Given the description of an element on the screen output the (x, y) to click on. 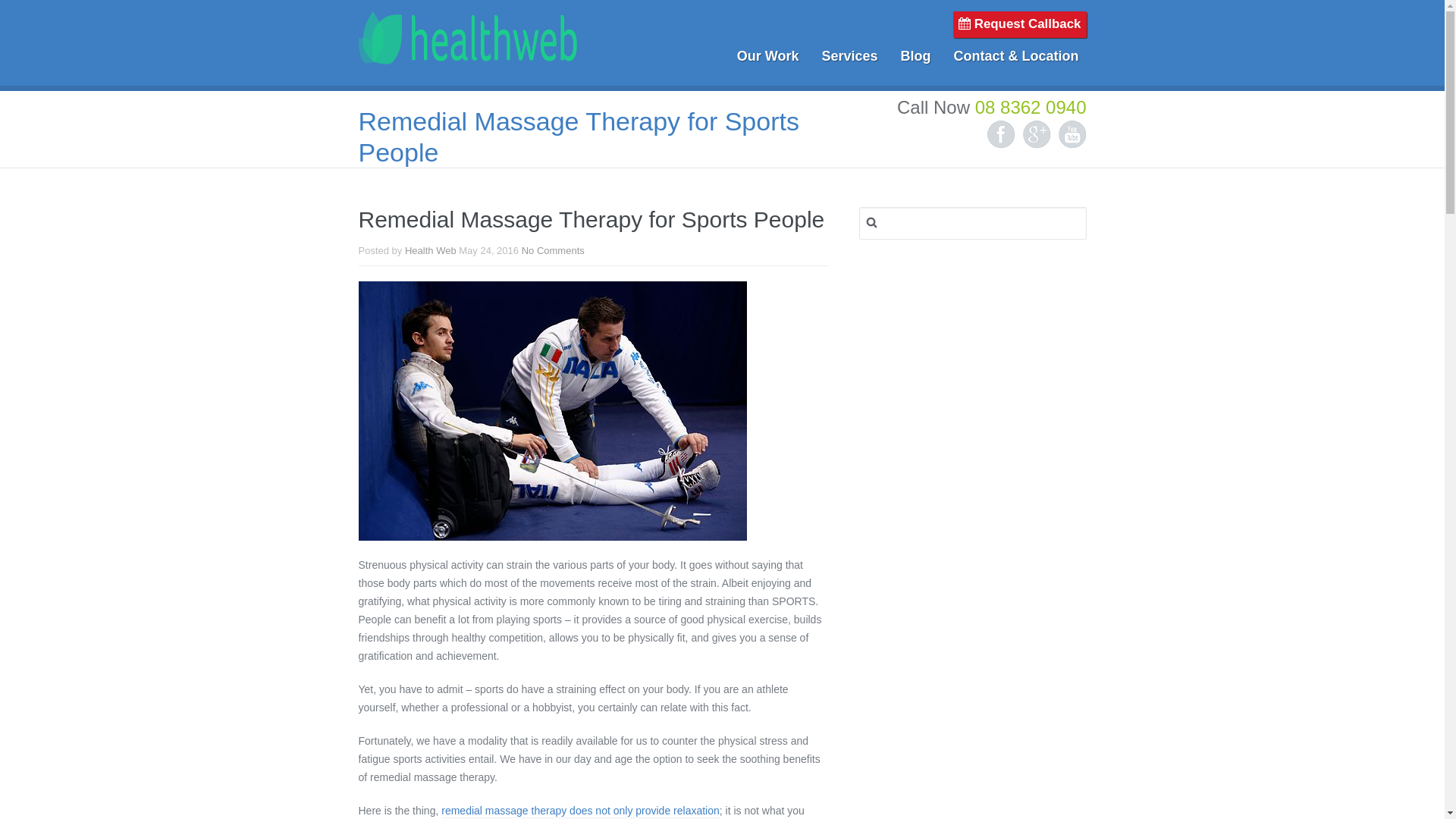
Search Element type: text (29, 15)
Blog Element type: text (915, 55)
remedial massage therapy does not only provide relaxation Element type: text (580, 811)
Contact & Location Element type: text (1016, 55)
Services Element type: text (848, 55)
Health Web Element type: hover (466, 52)
08 8362 0940 Element type: text (1030, 107)
Health Web Element type: text (430, 250)
sprained-athlete Element type: hover (551, 410)
Request Callback Element type: text (1019, 24)
Our Work Element type: text (767, 55)
No Comments Element type: text (552, 250)
